Given the description of an element on the screen output the (x, y) to click on. 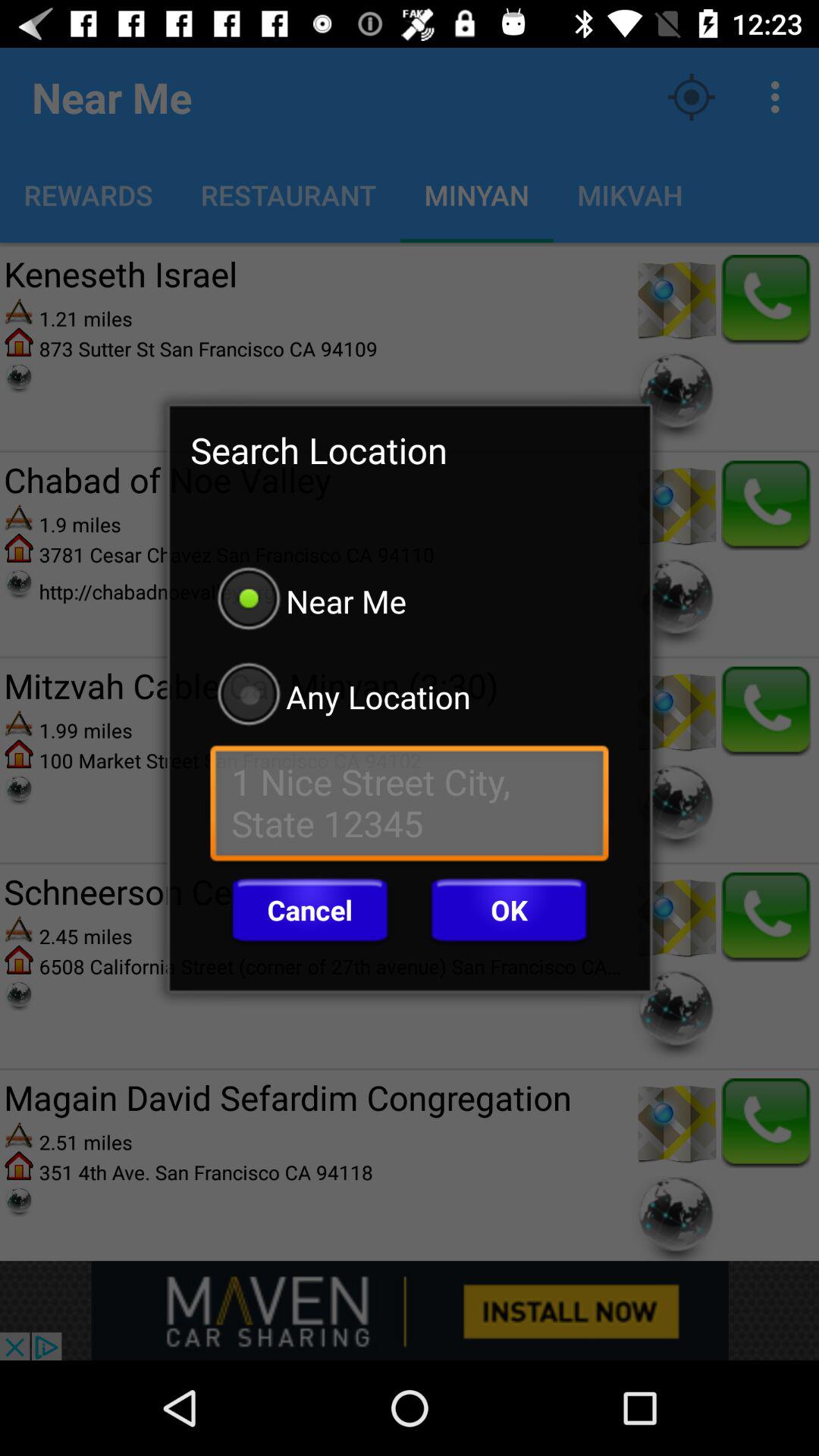
jump to ok item (508, 909)
